Given the description of an element on the screen output the (x, y) to click on. 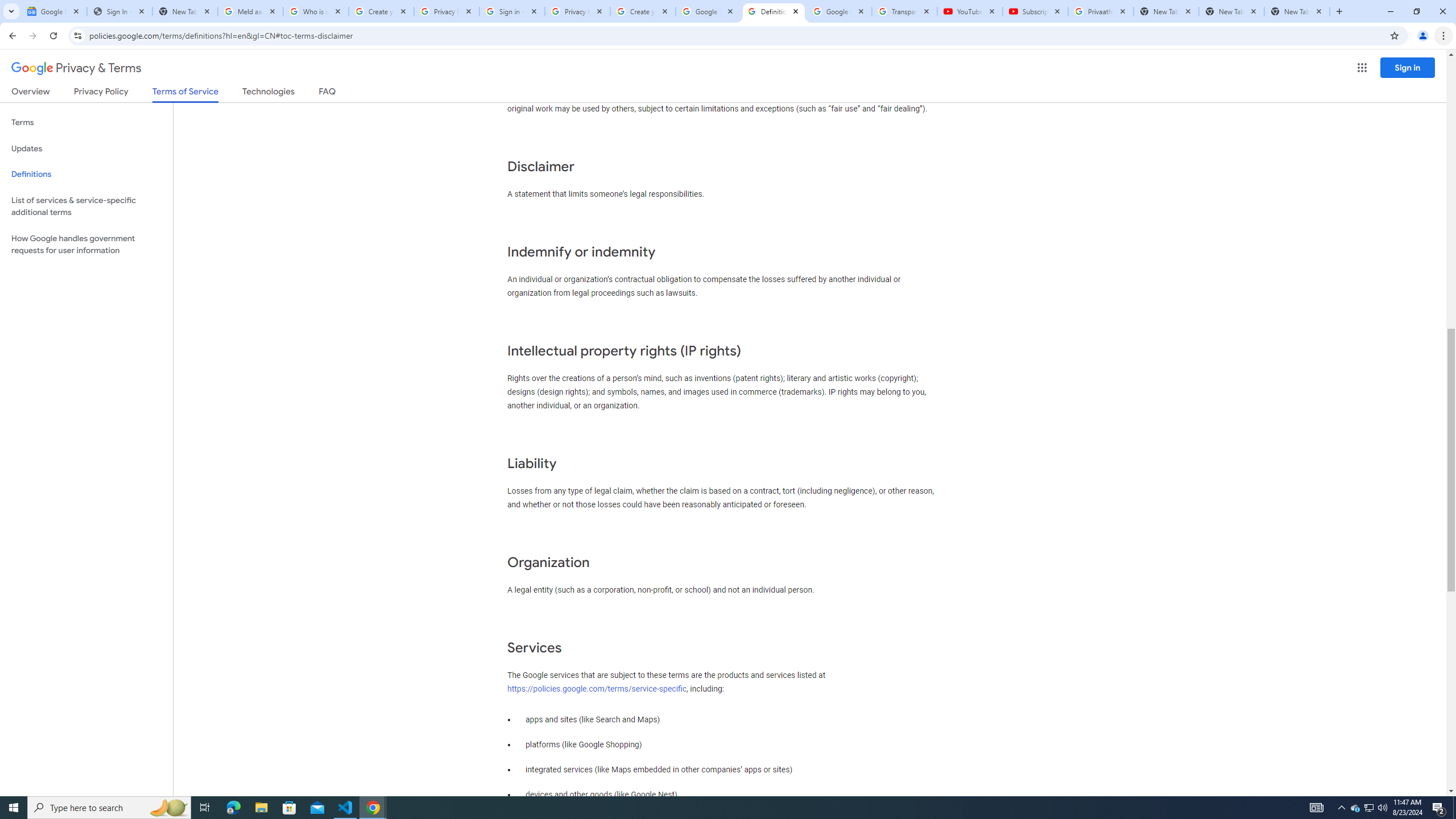
Privacy Policy (100, 93)
YouTube (969, 11)
Privacy & Terms (76, 68)
Subscriptions - YouTube (1035, 11)
Technologies (268, 93)
https://policies.google.com/terms/service-specific (596, 688)
How Google handles government requests for user information (86, 244)
FAQ (327, 93)
